Given the description of an element on the screen output the (x, y) to click on. 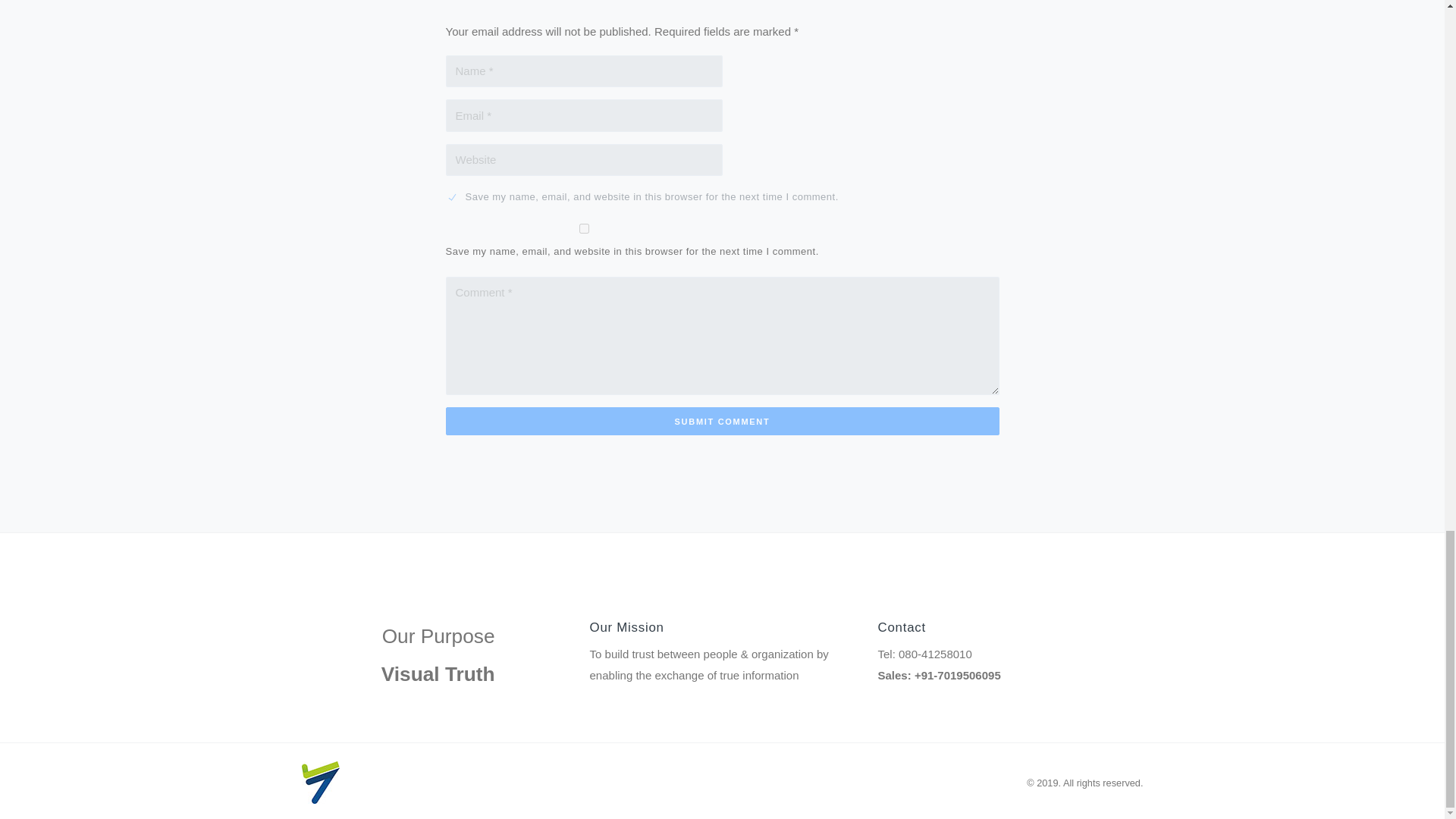
Submit Comment (721, 420)
Submit Comment (721, 420)
yes (583, 228)
